Given the description of an element on the screen output the (x, y) to click on. 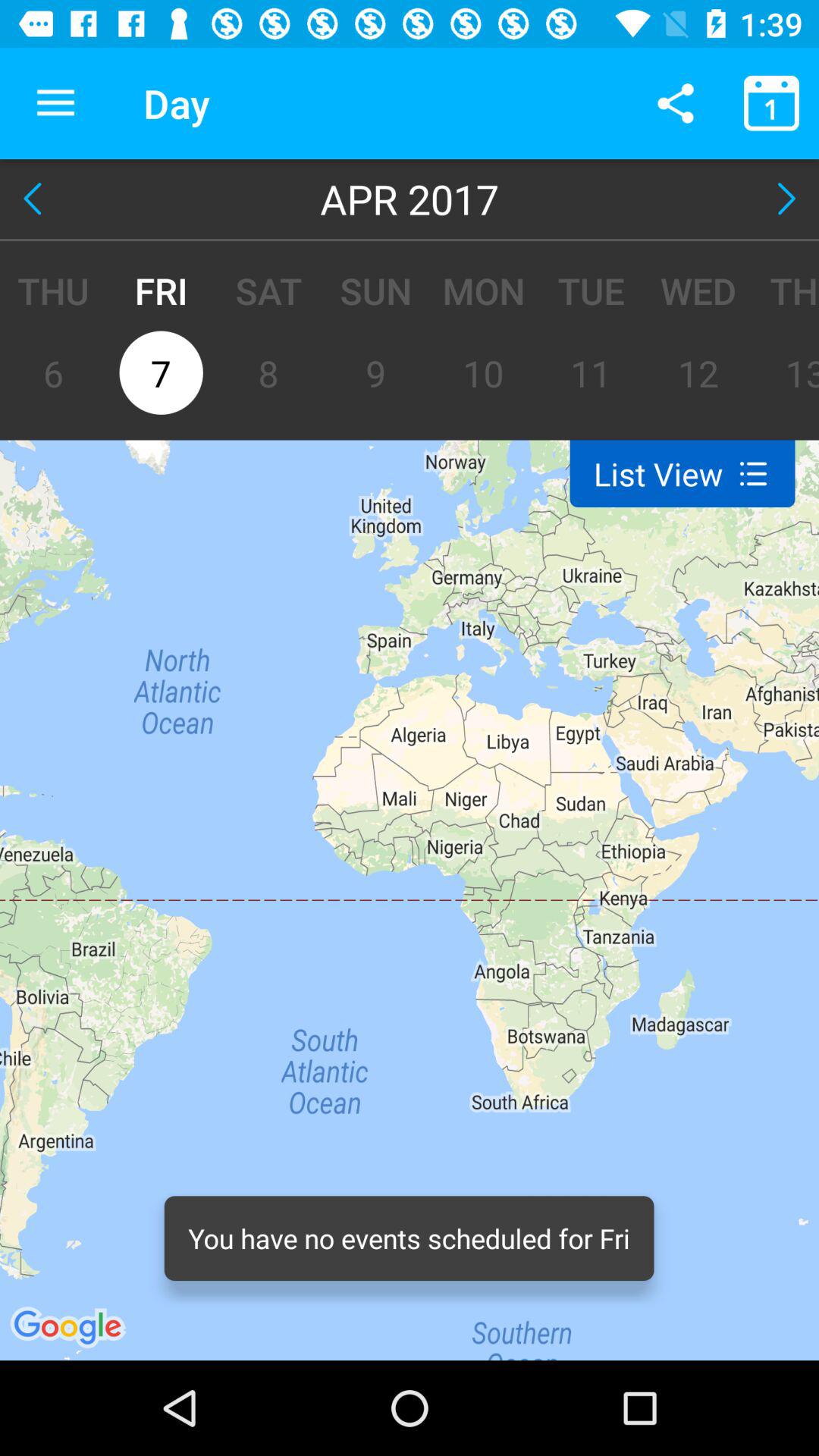
choose item next to the day icon (675, 103)
